Given the description of an element on the screen output the (x, y) to click on. 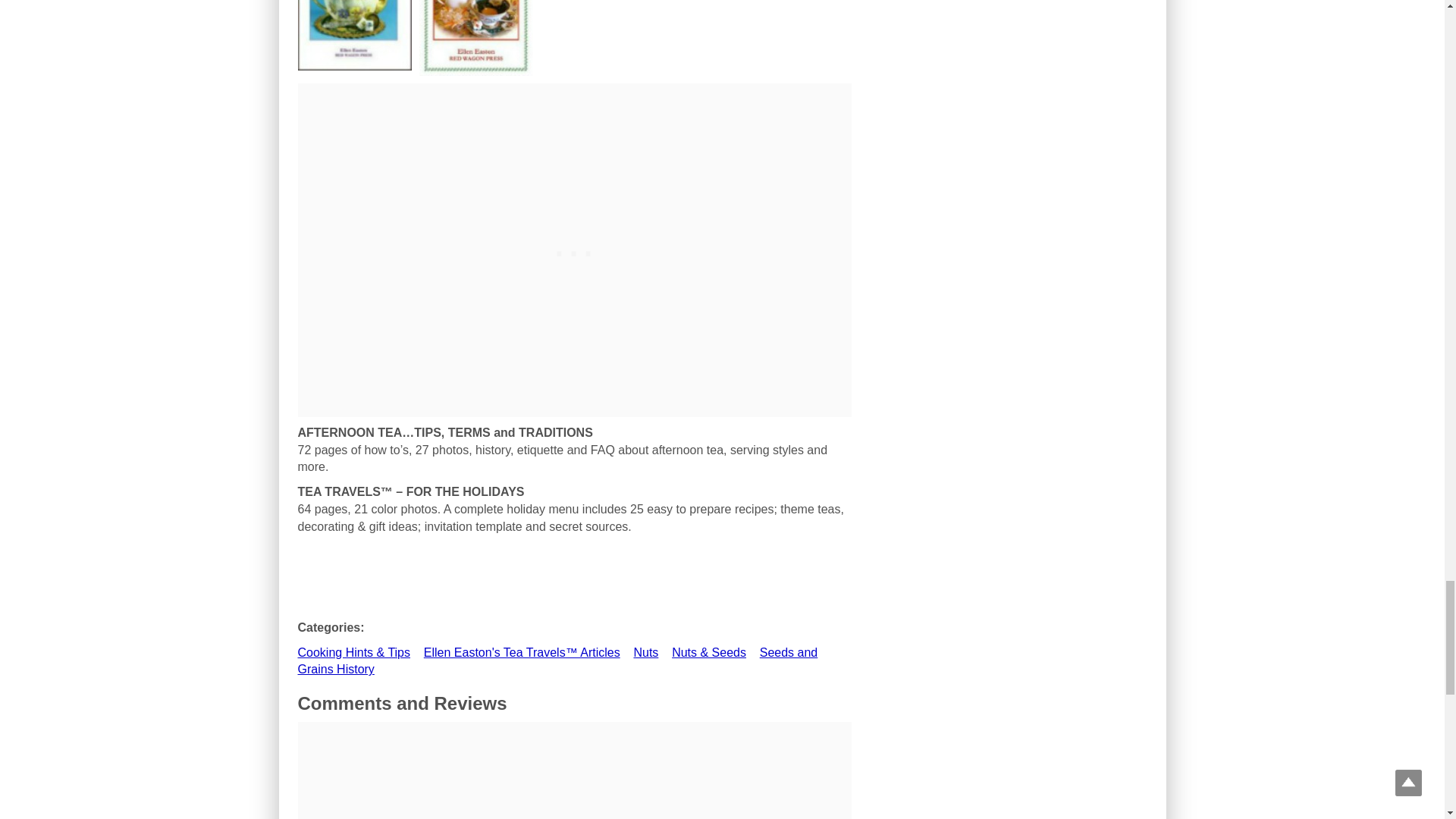
View all posts in Nuts (645, 652)
View all posts in Seeds and Grains History (556, 661)
